Given the description of an element on the screen output the (x, y) to click on. 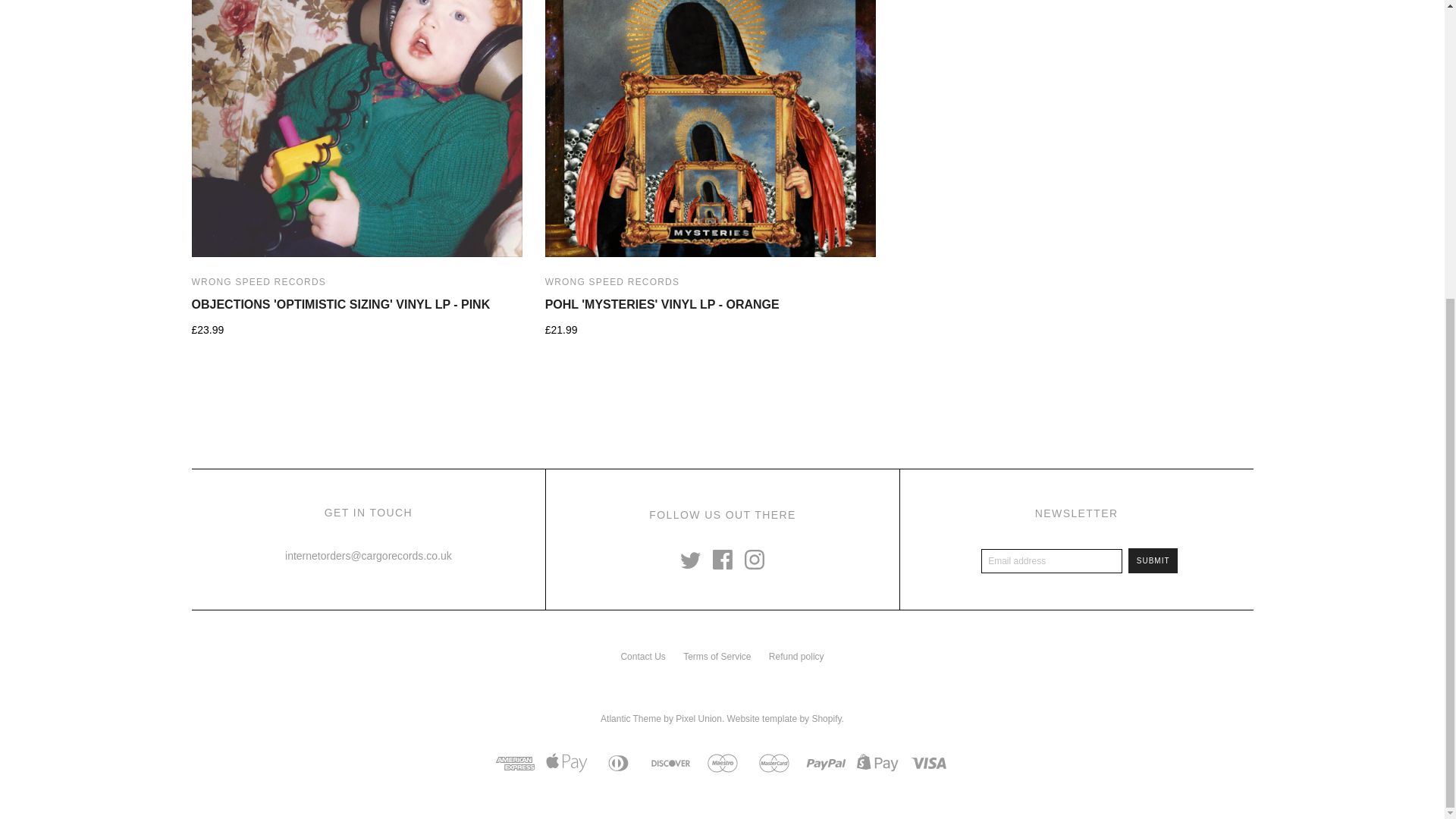
Wrong Speed Records (611, 281)
Submit (1152, 560)
Wrong Speed Records (257, 281)
